Given the description of an element on the screen output the (x, y) to click on. 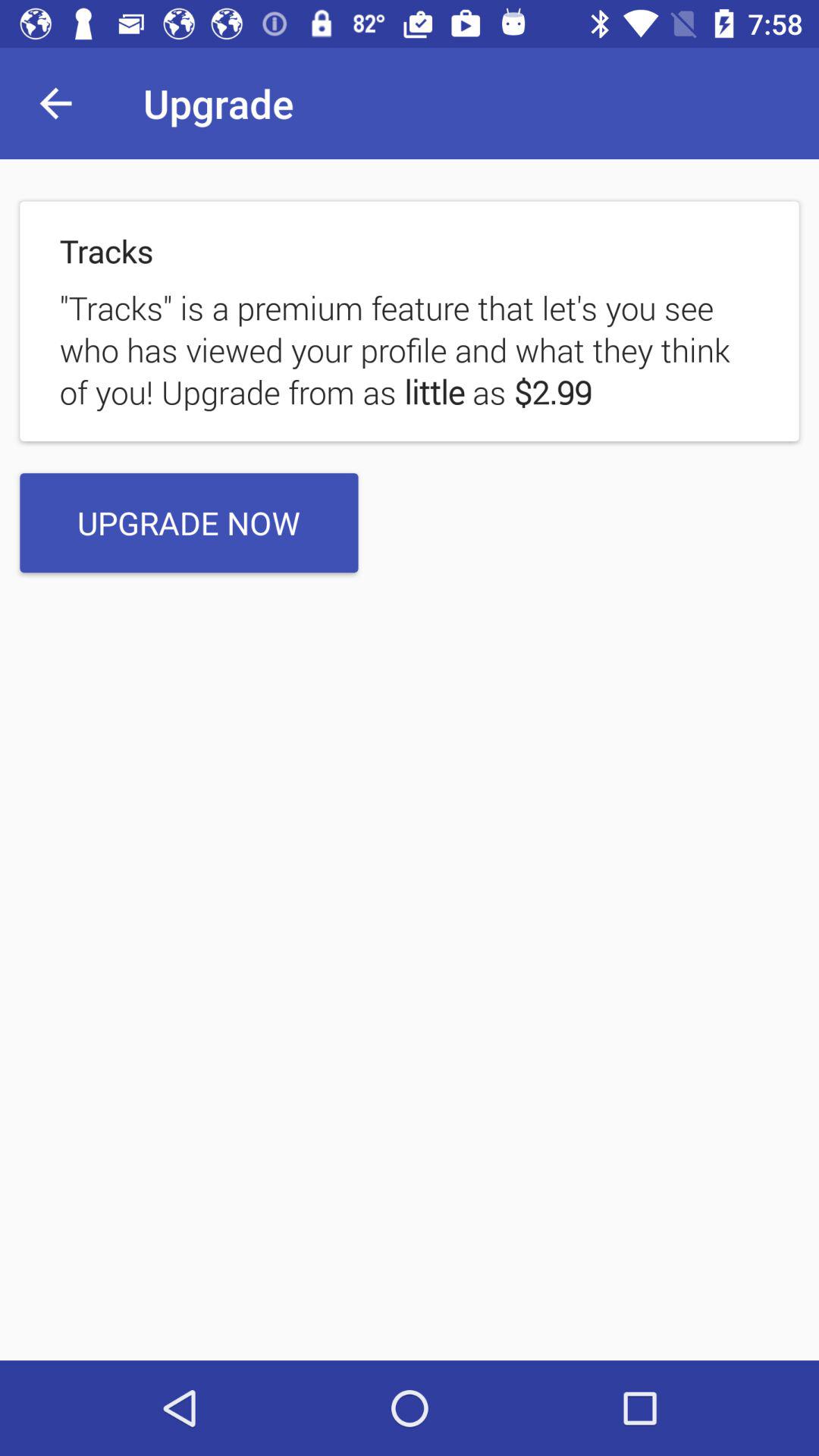
select icon to the left of the upgrade (55, 103)
